Given the description of an element on the screen output the (x, y) to click on. 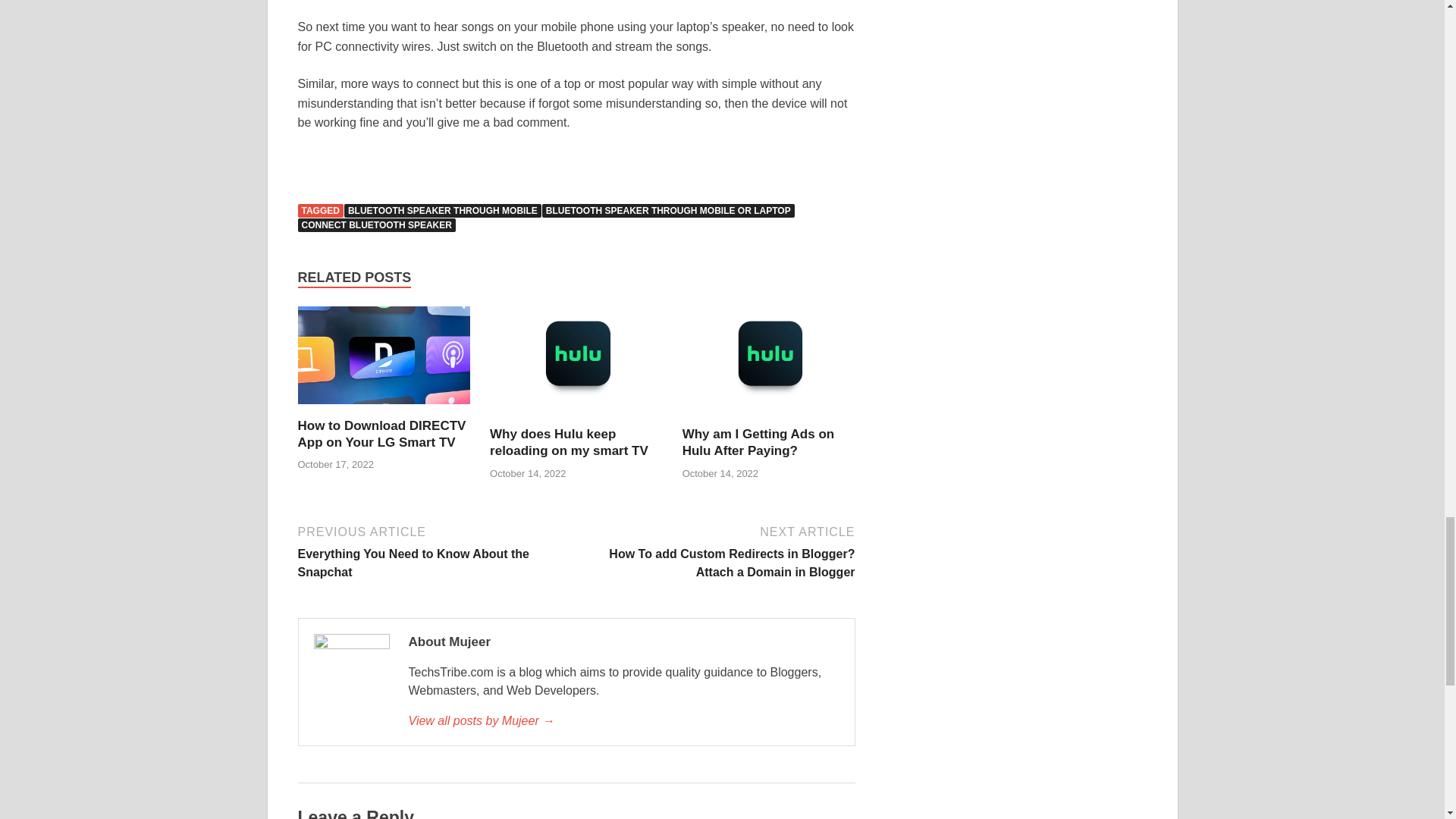
Why does Hulu keep reloading on my smart TV (568, 441)
Why am I Getting Ads on Hulu After Paying? (769, 416)
Why am I Getting Ads on Hulu After Paying? (758, 441)
Why am I Getting Ads on Hulu After Paying? (758, 441)
Why does Hulu keep reloading on my smart TV (568, 441)
BLUETOOTH SPEAKER THROUGH MOBILE (442, 210)
Why does Hulu keep reloading on my smart TV (575, 416)
Mujeer (622, 720)
CONNECT BLUETOOTH SPEAKER (375, 224)
How to Download DIRECTV App on Your LG Smart TV (381, 433)
How to Download DIRECTV App on Your LG Smart TV (381, 433)
How to Download DIRECTV App on Your LG Smart TV (383, 408)
BLUETOOTH SPEAKER THROUGH MOBILE OR LAPTOP (667, 210)
